Given the description of an element on the screen output the (x, y) to click on. 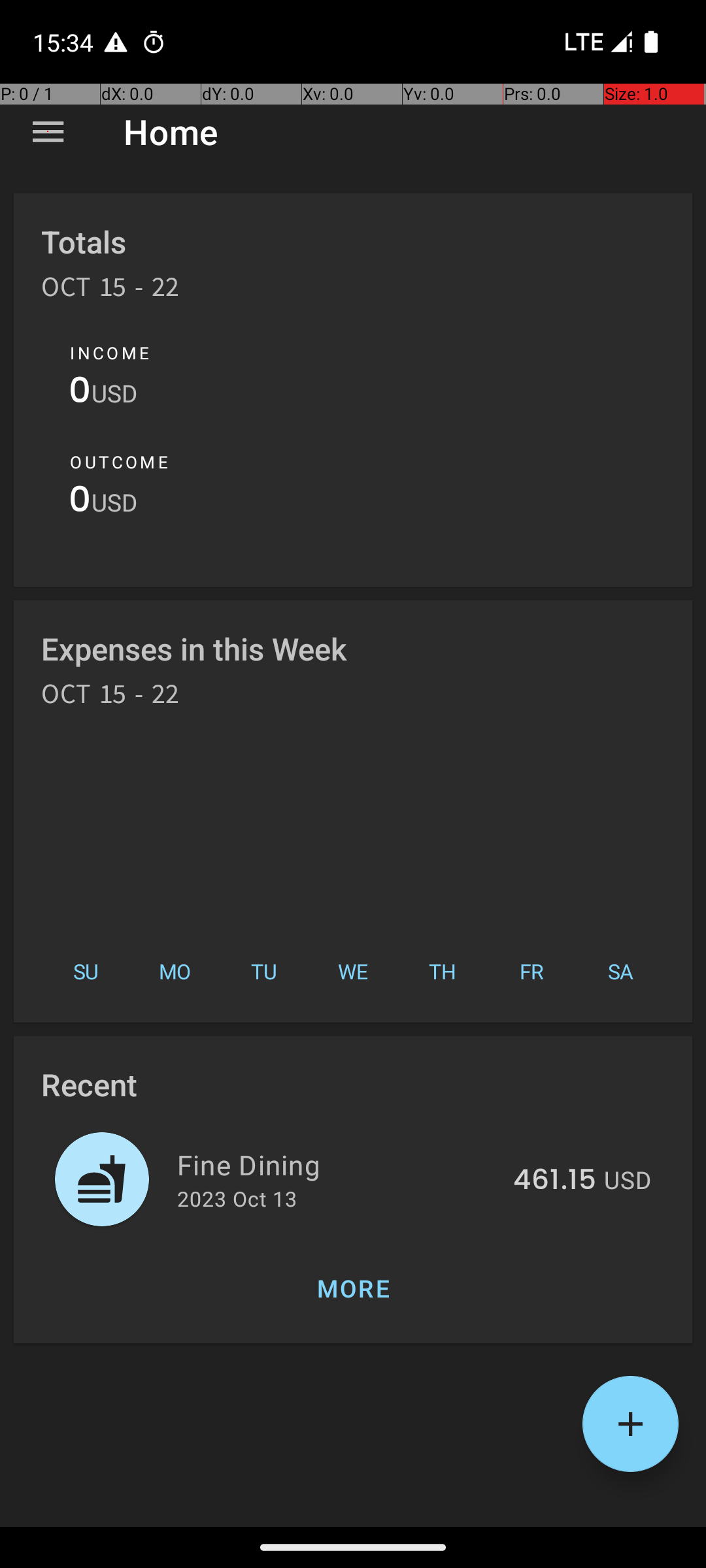
Fine Dining Element type: android.widget.TextView (337, 1164)
461.15 Element type: android.widget.TextView (554, 1180)
